Given the description of an element on the screen output the (x, y) to click on. 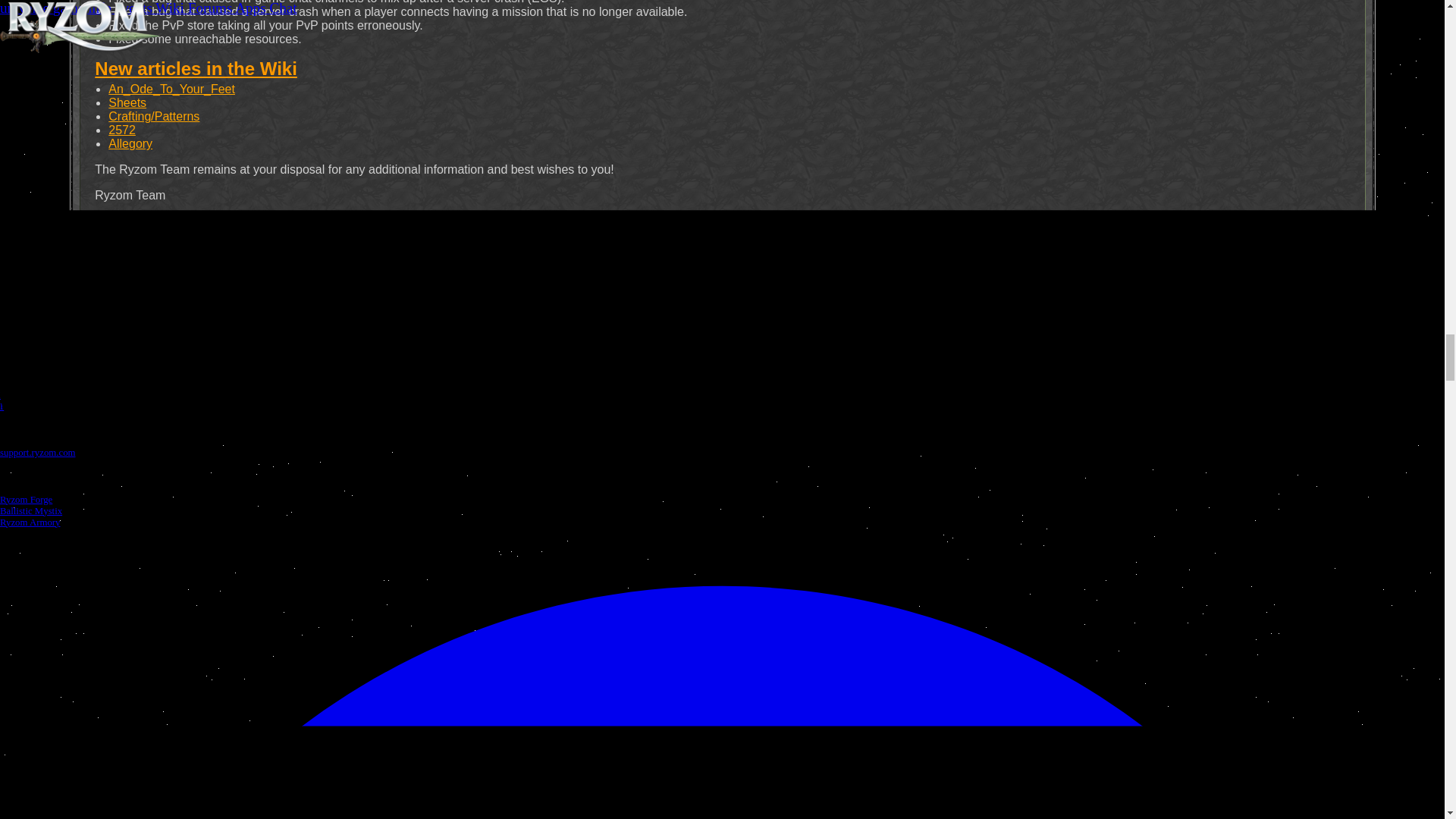
Show topic (114, 245)
Allegory (129, 143)
Sheets (127, 102)
2572 (121, 129)
ryzom-api (748, 311)
